Given the description of an element on the screen output the (x, y) to click on. 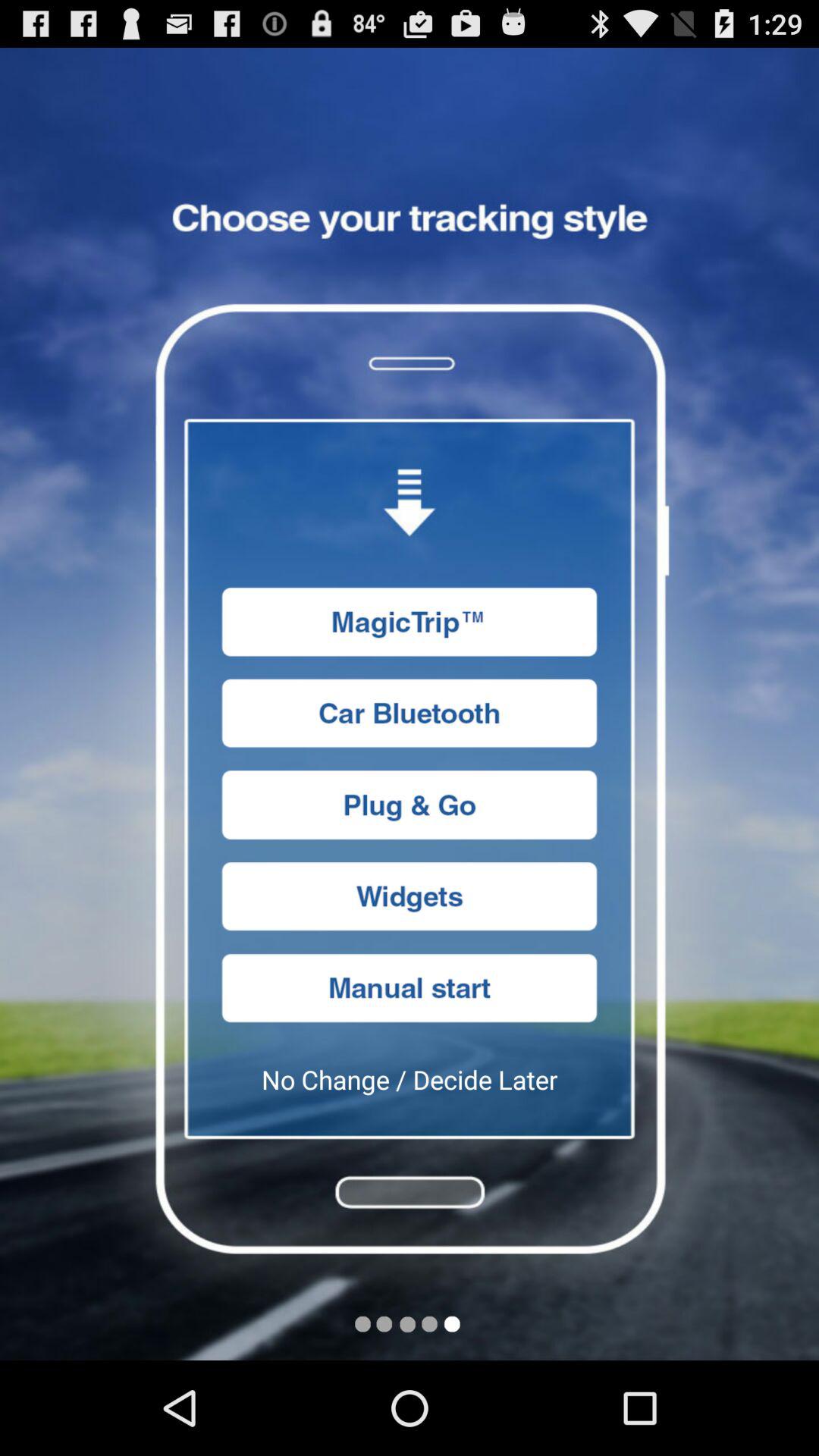
magictrip (409, 621)
